Given the description of an element on the screen output the (x, y) to click on. 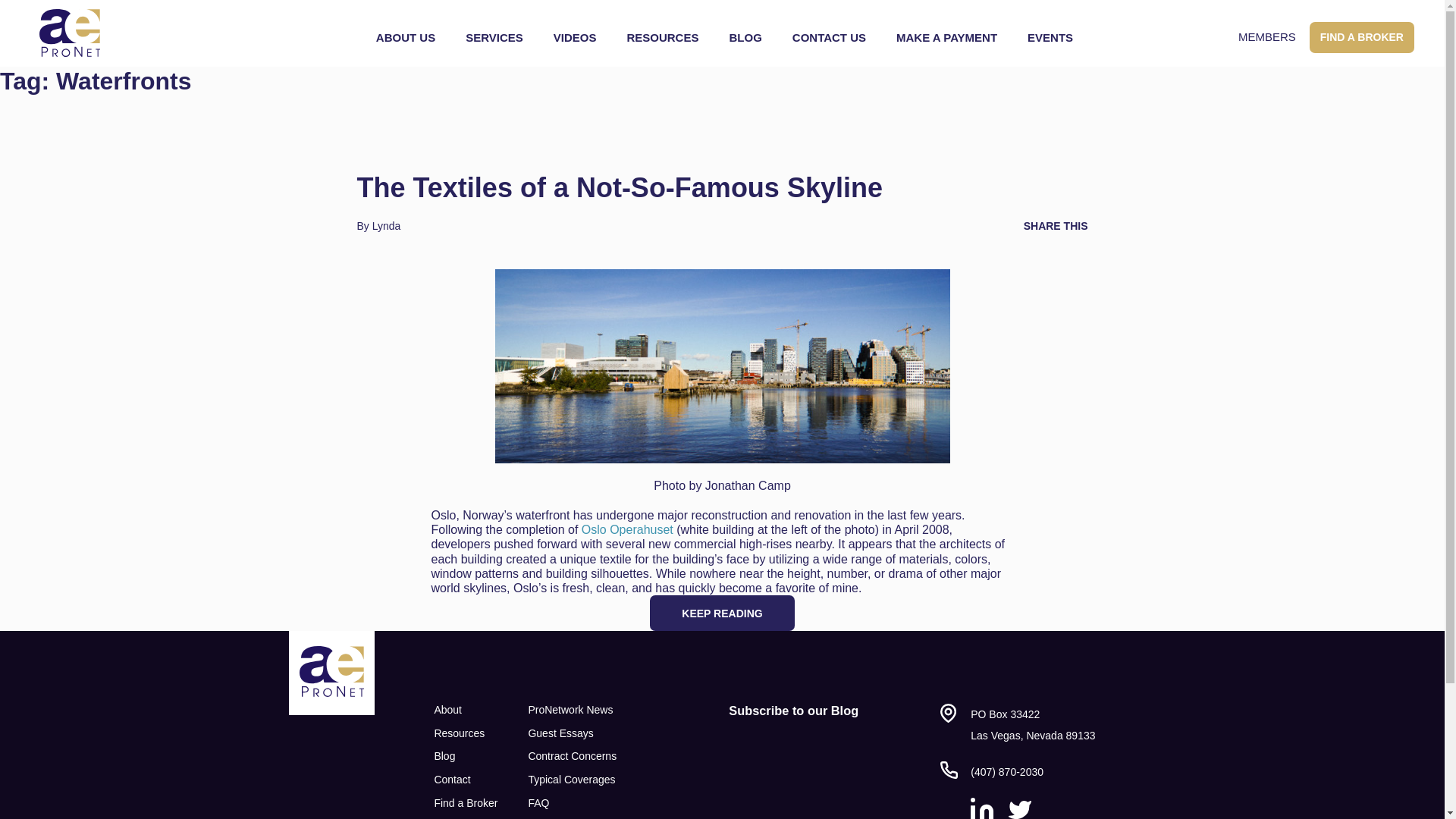
ABOUT US (405, 37)
SERVICES (494, 37)
EVENTS (1050, 37)
KEEP READING (721, 612)
Oslo Operahuset (626, 529)
CONTACT US (828, 37)
BLOG (744, 37)
MAKE A PAYMENT (946, 37)
The Textiles of a Not-So-Famous Skyline (619, 187)
RESOURCES (662, 37)
